Given the description of an element on the screen output the (x, y) to click on. 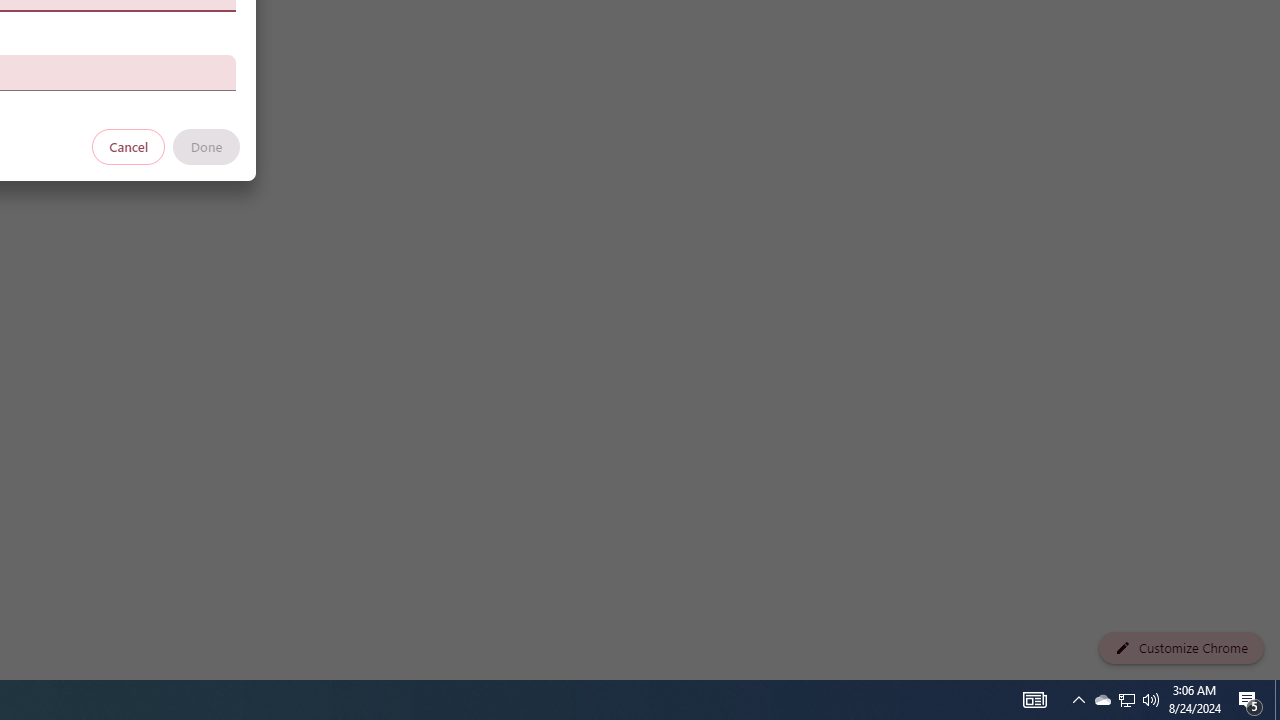
Cancel (129, 146)
Done (206, 146)
